Given the description of an element on the screen output the (x, y) to click on. 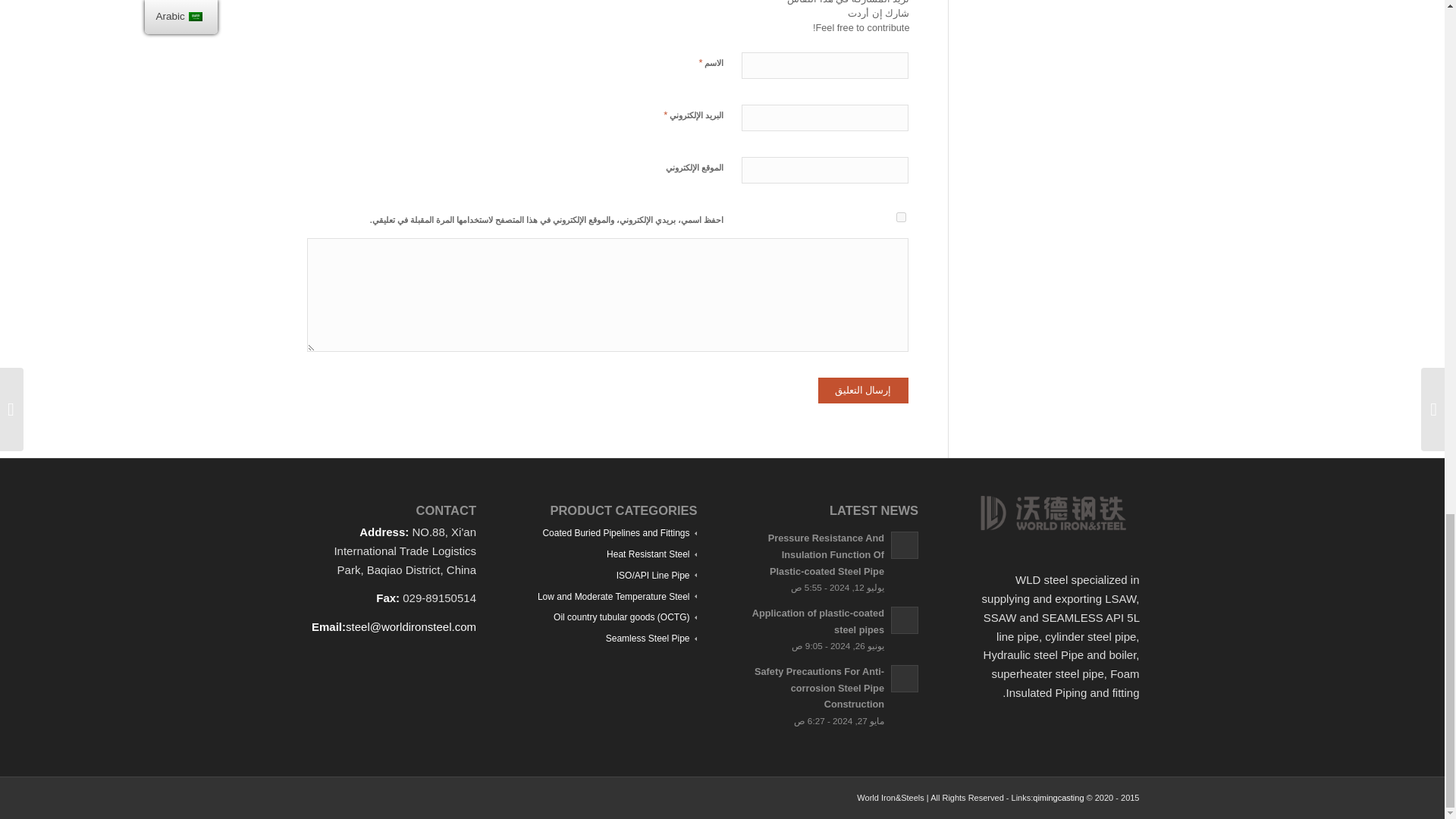
yes (900, 216)
